Given the description of an element on the screen output the (x, y) to click on. 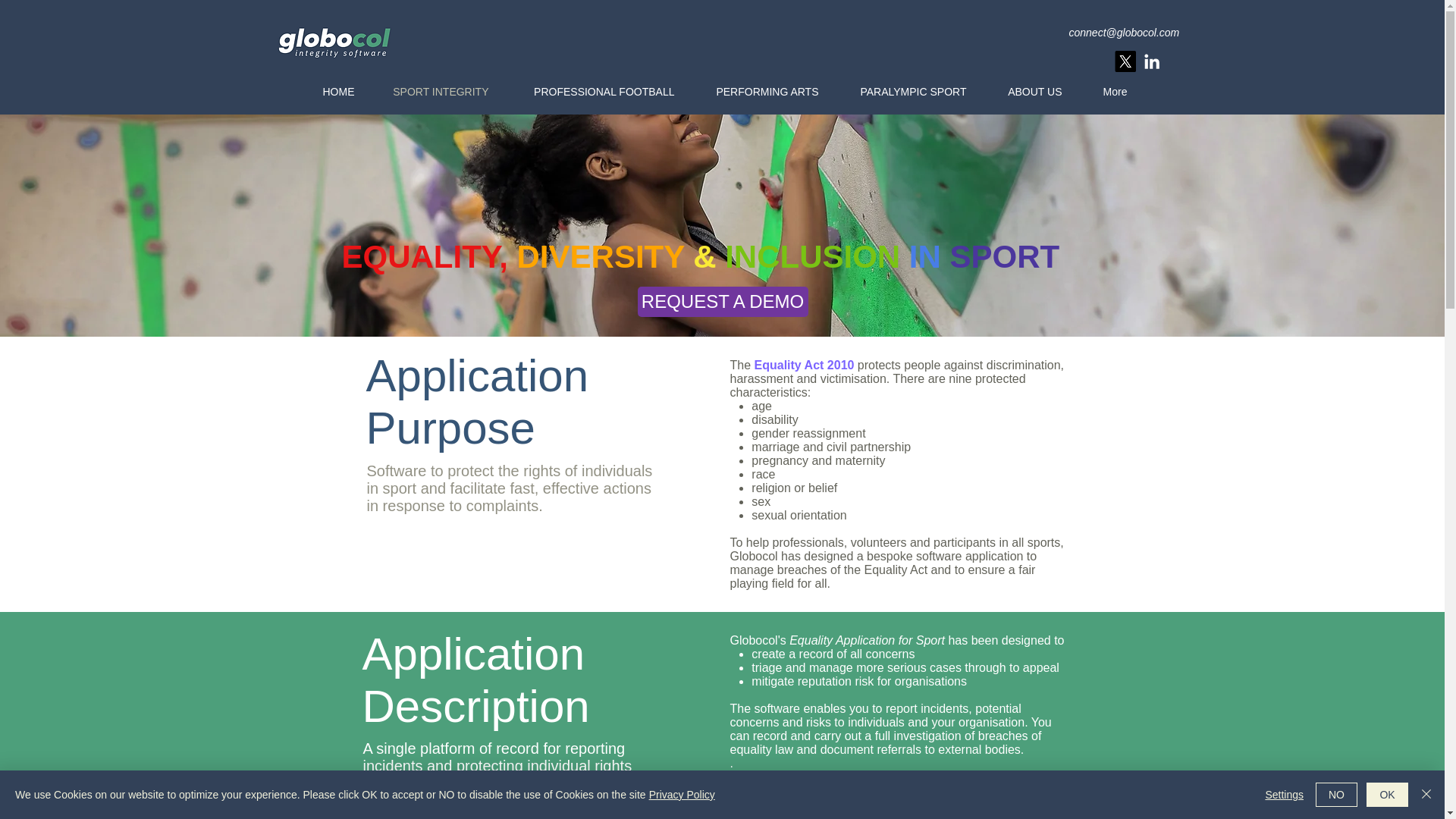
Equality Act 2010 (804, 364)
PROFESSIONAL FOOTBALL (601, 91)
PERFORMING ARTS (765, 91)
REQUEST A DEMO (722, 301)
SPORT INTEGRITY (439, 91)
PARALYMPIC SPORT (911, 91)
ABOUT US (1033, 91)
HOME (337, 91)
